Given the description of an element on the screen output the (x, y) to click on. 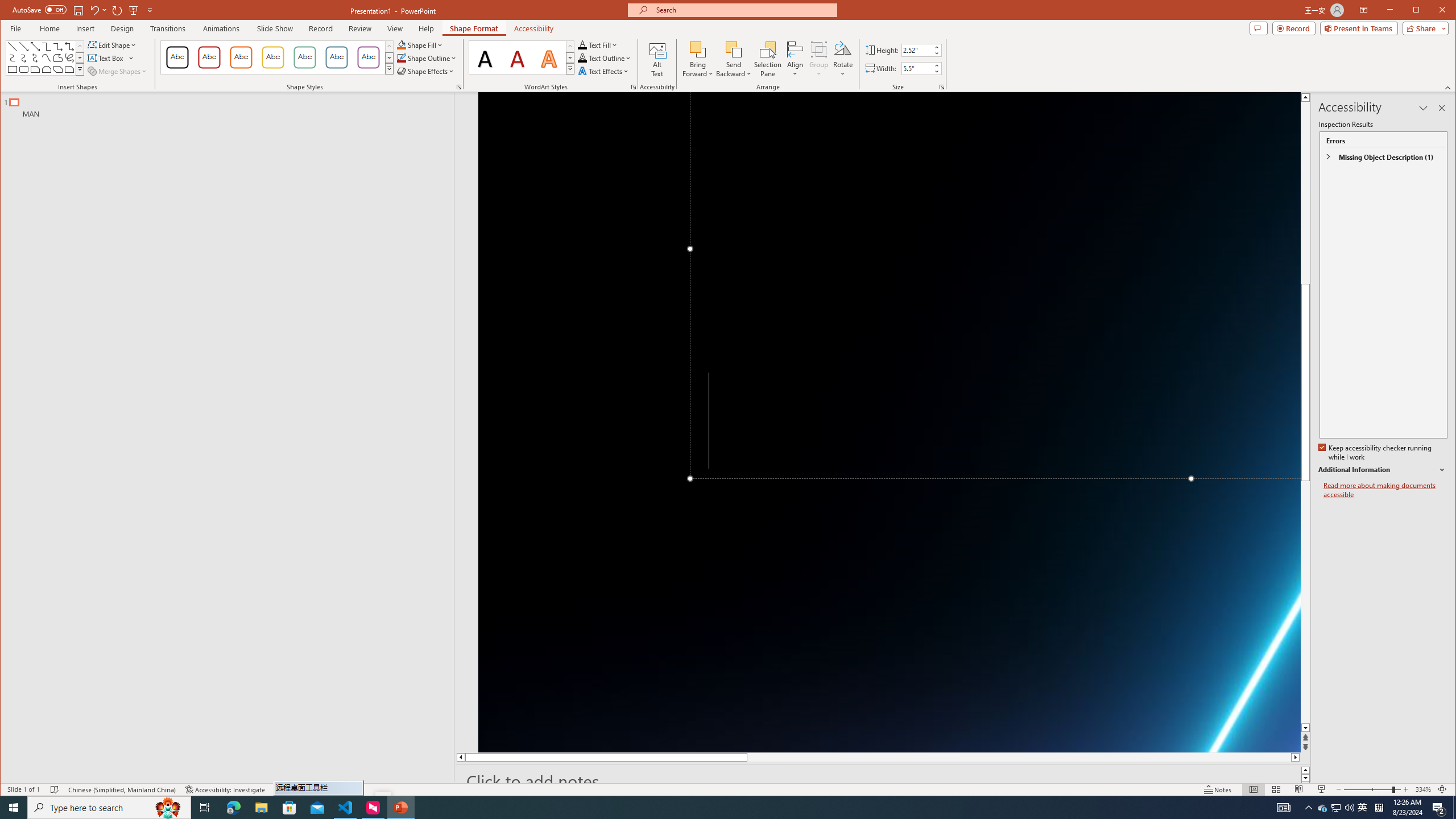
Bring Forward (697, 48)
Fill: Dark Red, Accent color 1; Shadow (517, 57)
Format Text Effects... (632, 86)
